Given the description of an element on the screen output the (x, y) to click on. 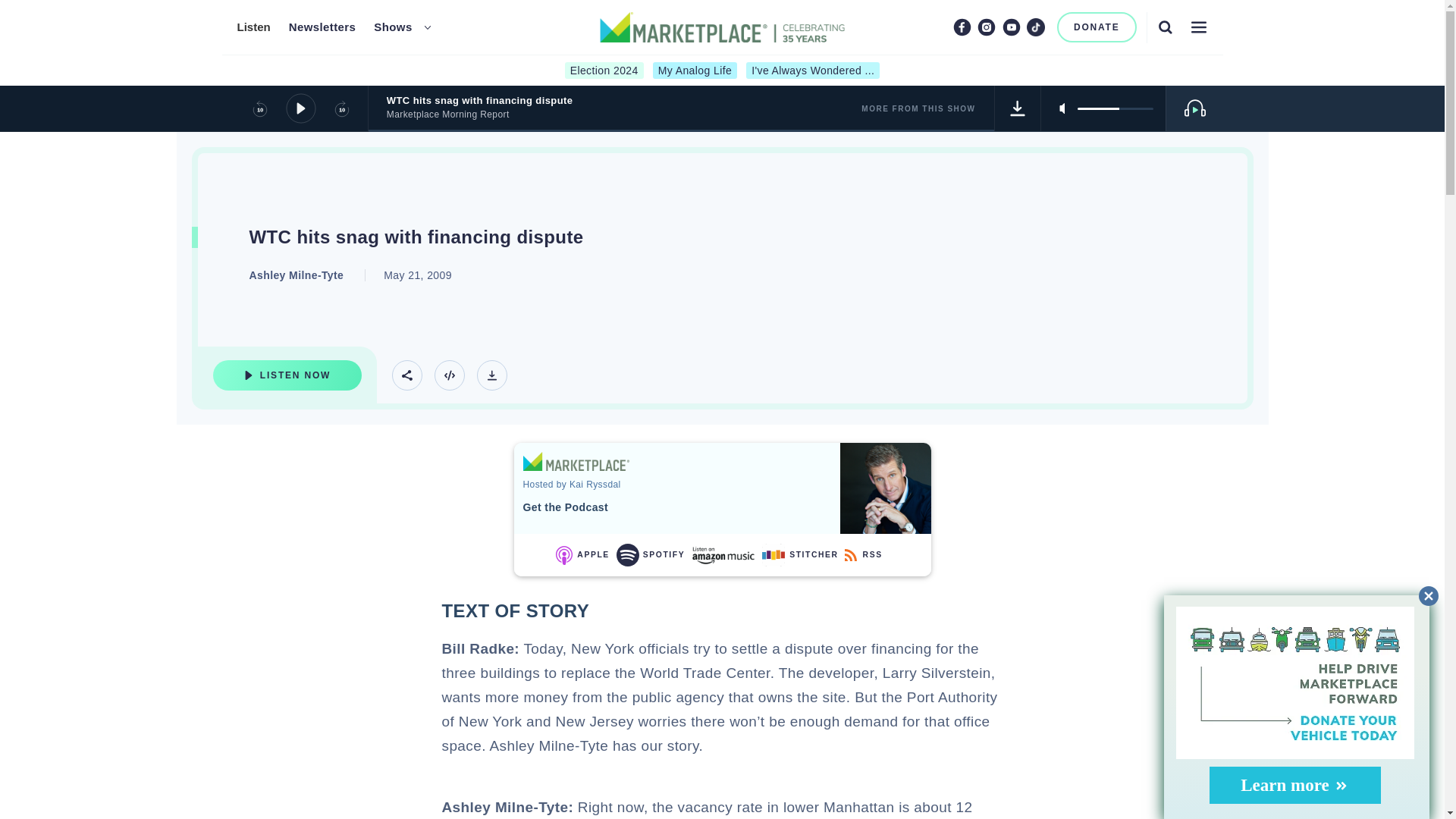
Marketplace (575, 461)
DONATE (1097, 27)
Listen Now (286, 374)
Skip 10 Seconds (341, 108)
Shows (393, 26)
Download Track (491, 374)
Search (1164, 27)
5 (1115, 108)
TikTok (1035, 27)
Listen (252, 26)
Menu (1198, 27)
Facebook (962, 27)
Download Track (1017, 108)
Instagram (985, 27)
Youtube (1011, 27)
